Given the description of an element on the screen output the (x, y) to click on. 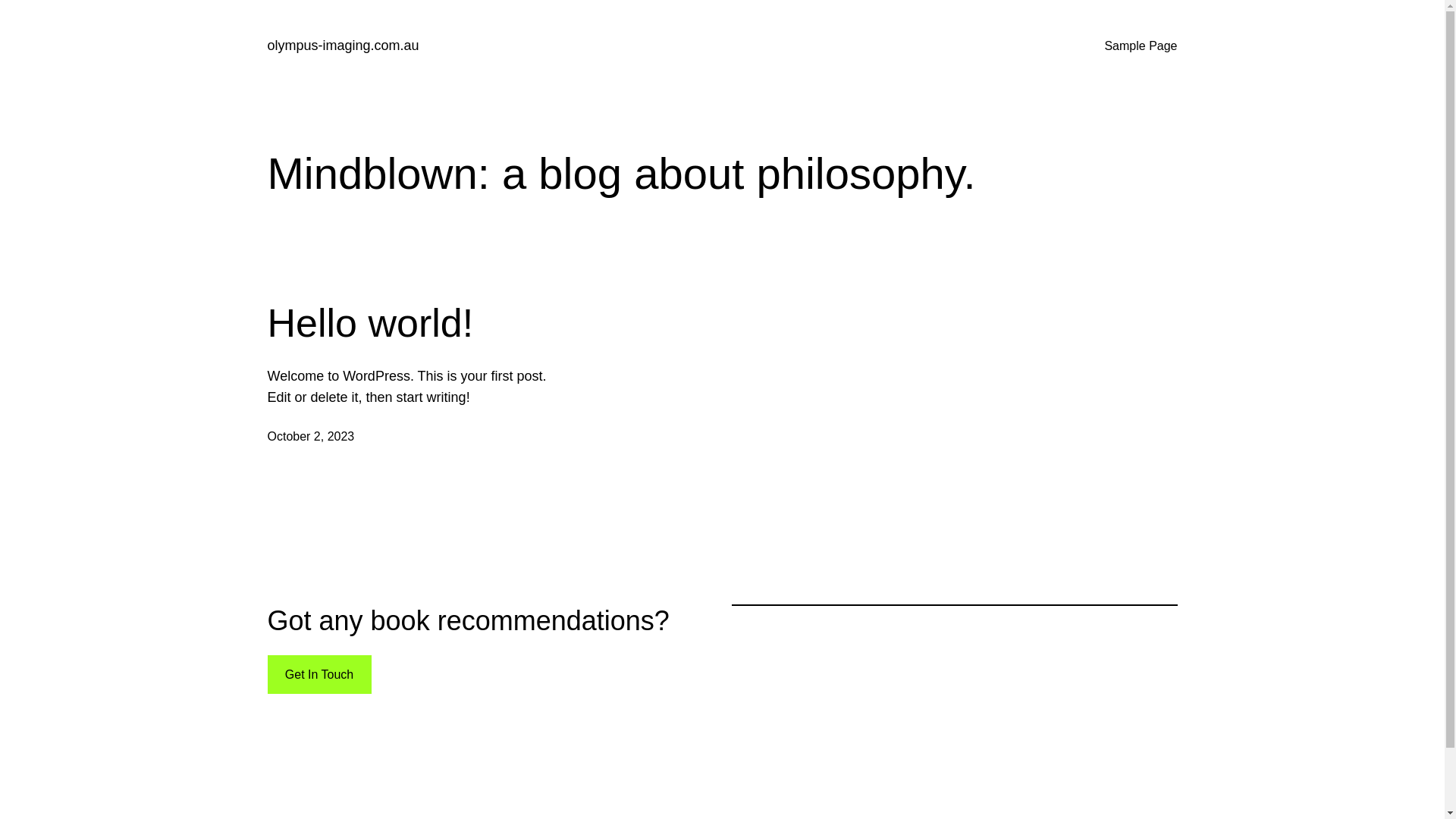
olympus-imaging.com.au Element type: text (342, 45)
Sample Page Element type: text (1140, 46)
Hello world! Element type: text (369, 322)
October 2, 2023 Element type: text (310, 435)
Get In Touch Element type: text (318, 674)
